Given the description of an element on the screen output the (x, y) to click on. 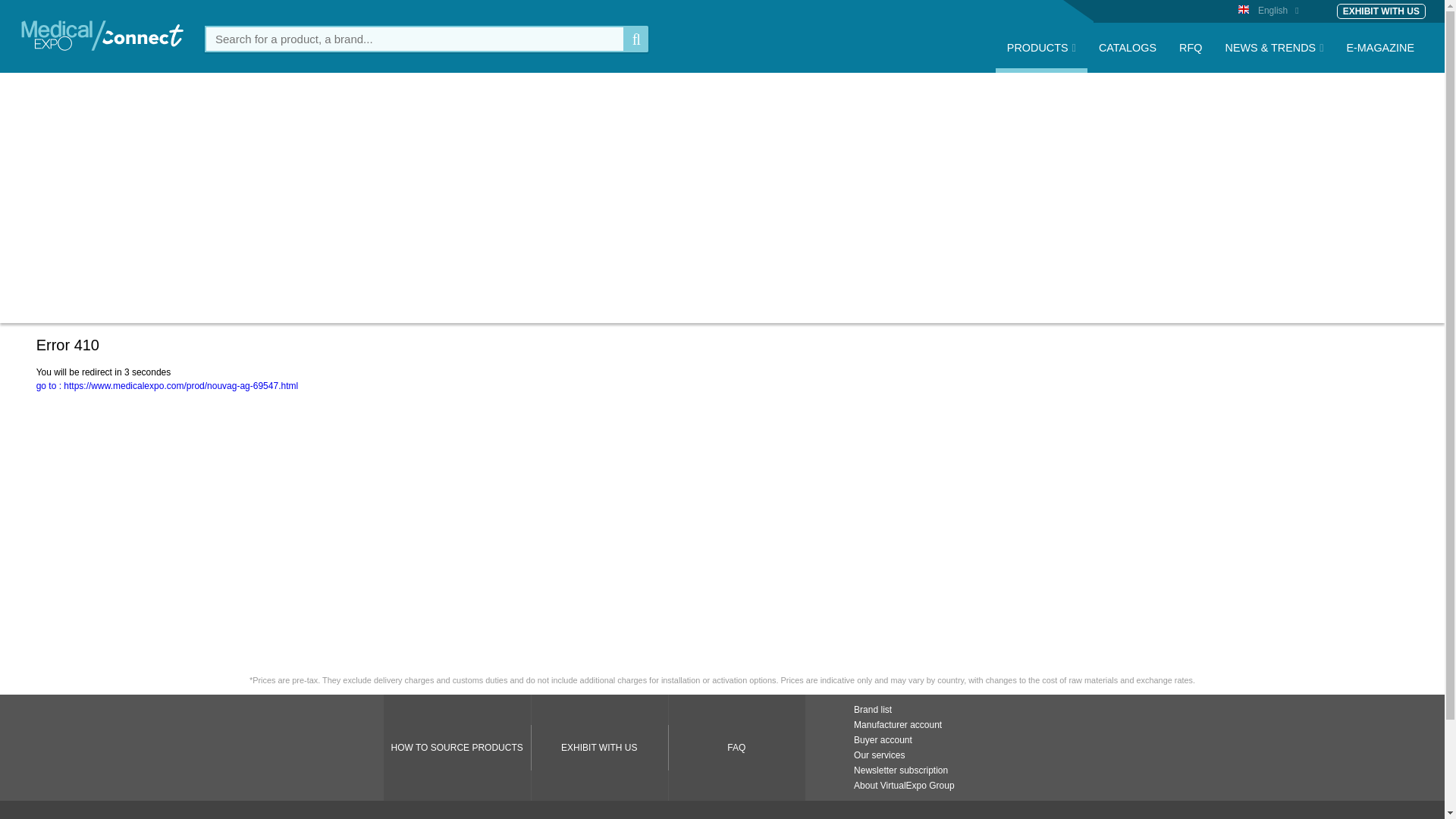
E-MAGAZINE (1380, 56)
CATALOGS (1127, 56)
Manufacturer account (897, 724)
RFQ (1189, 56)
FAQ (736, 747)
About VirtualExpo Group (904, 785)
Buyer account (882, 739)
EXHIBIT WITH US (1380, 11)
Our services (878, 755)
EXHIBIT WITH US (598, 747)
